Given the description of an element on the screen output the (x, y) to click on. 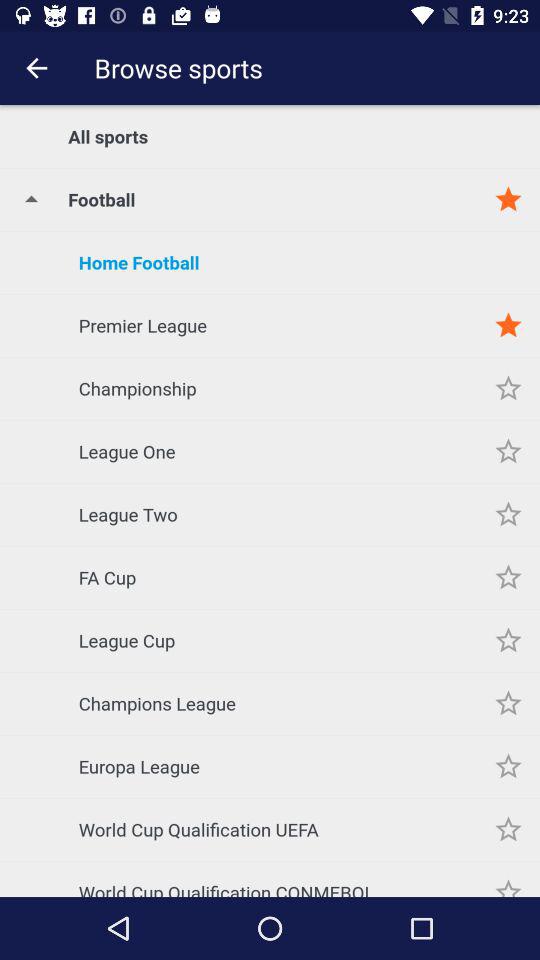
favorite league (508, 514)
